Given the description of an element on the screen output the (x, y) to click on. 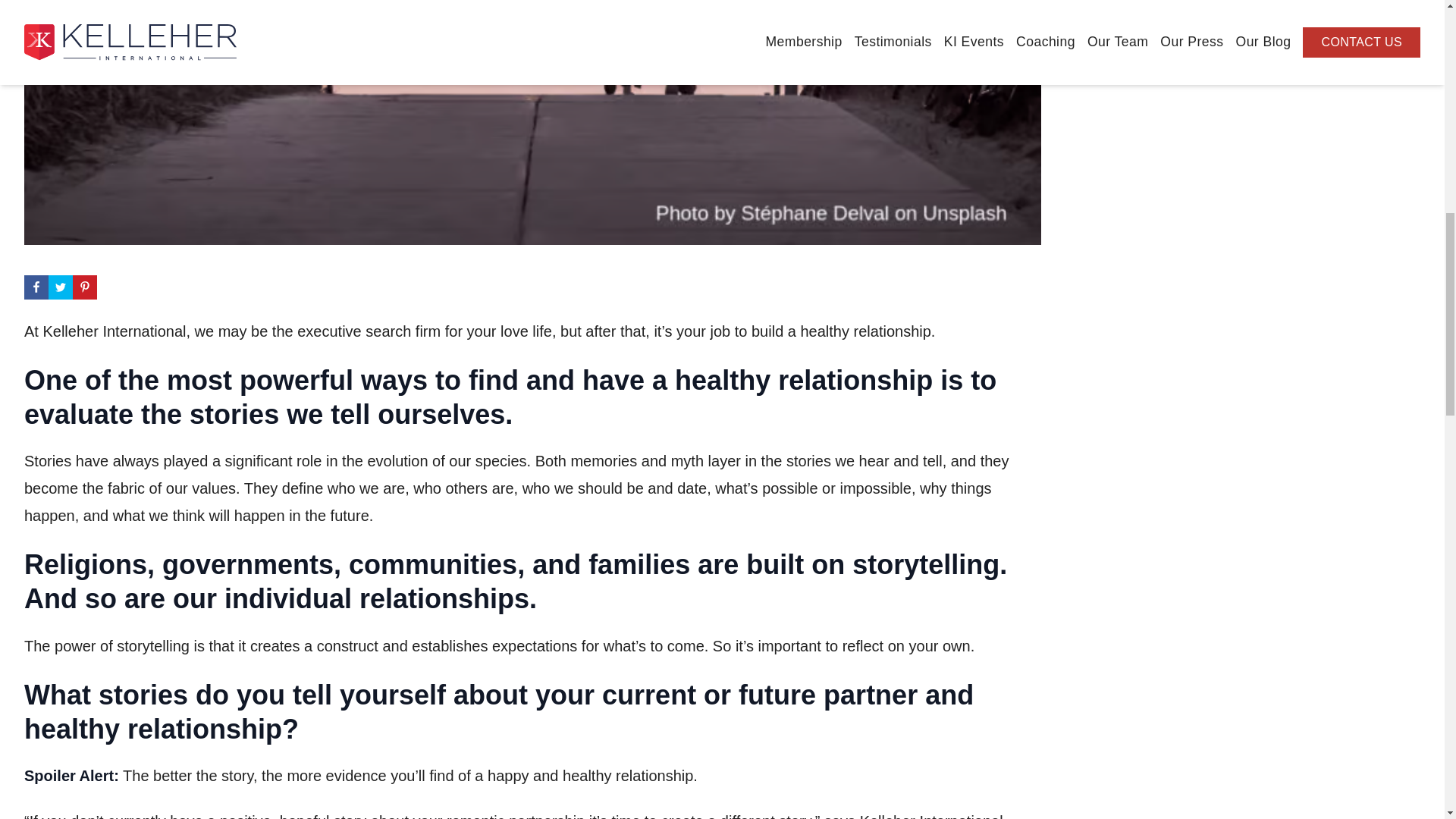
Share on Pinterest (84, 287)
Share on Twitter (60, 287)
Share on Facebook (36, 287)
